Given the description of an element on the screen output the (x, y) to click on. 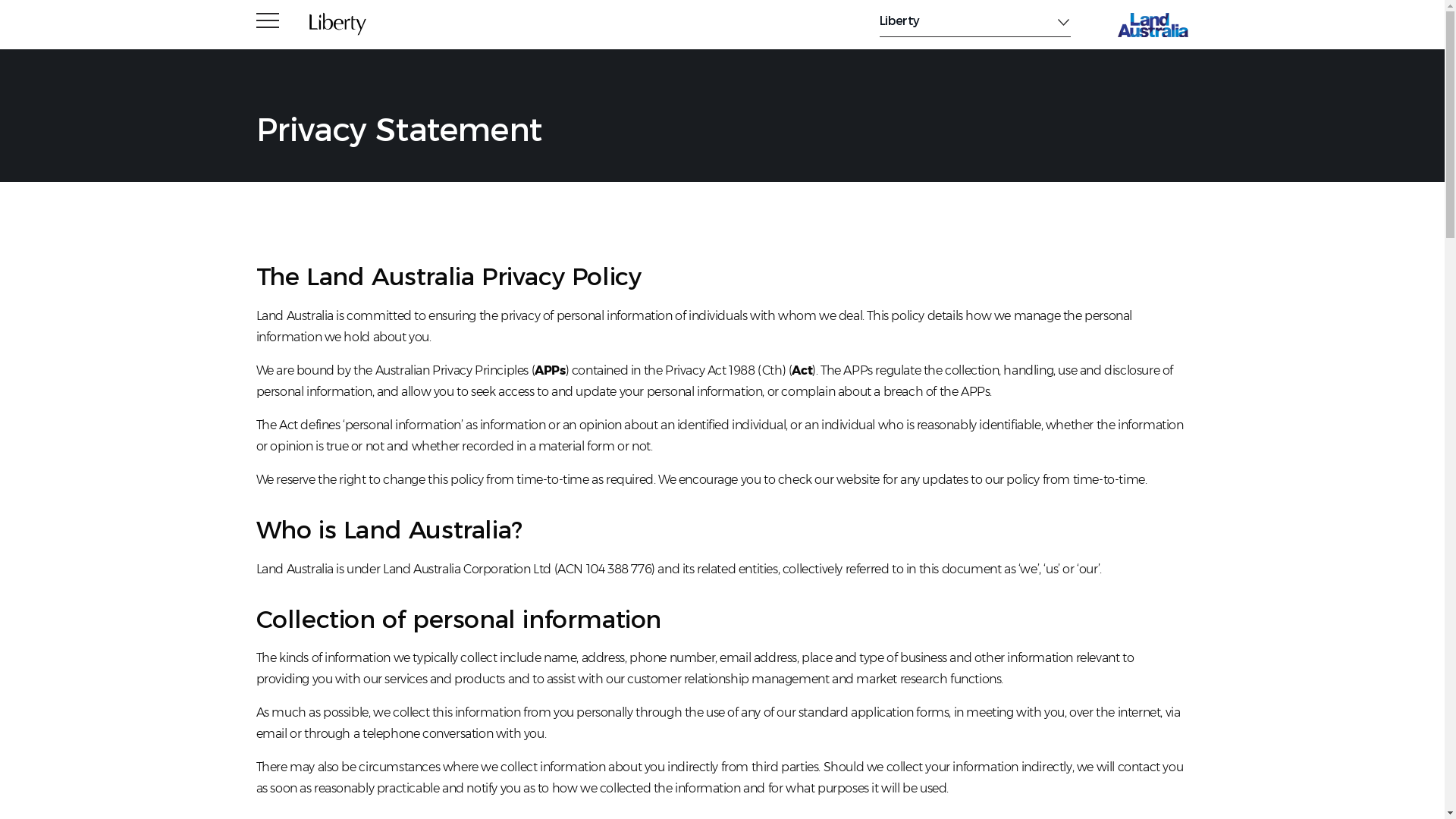
Liberty Element type: text (974, 21)
